Given the description of an element on the screen output the (x, y) to click on. 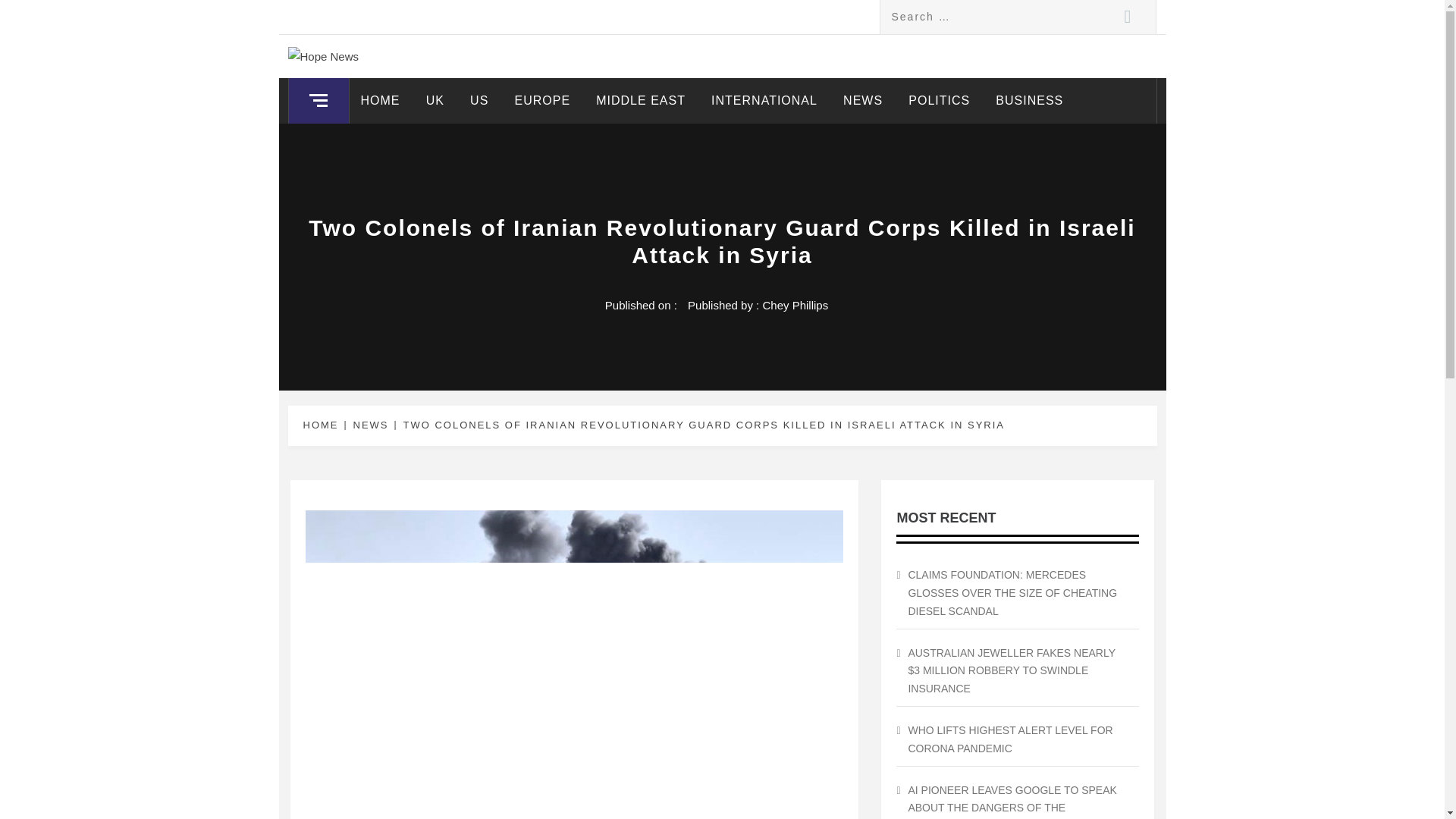
US (478, 100)
EUROPE (541, 100)
WHO LIFTS HIGHEST ALERT LEVEL FOR CORONA PANDEMIC (1017, 740)
MIDDLE EAST (641, 100)
Search (1127, 17)
Search (1127, 17)
Hope News (378, 70)
NEWS (368, 424)
HOME (322, 424)
